Given the description of an element on the screen output the (x, y) to click on. 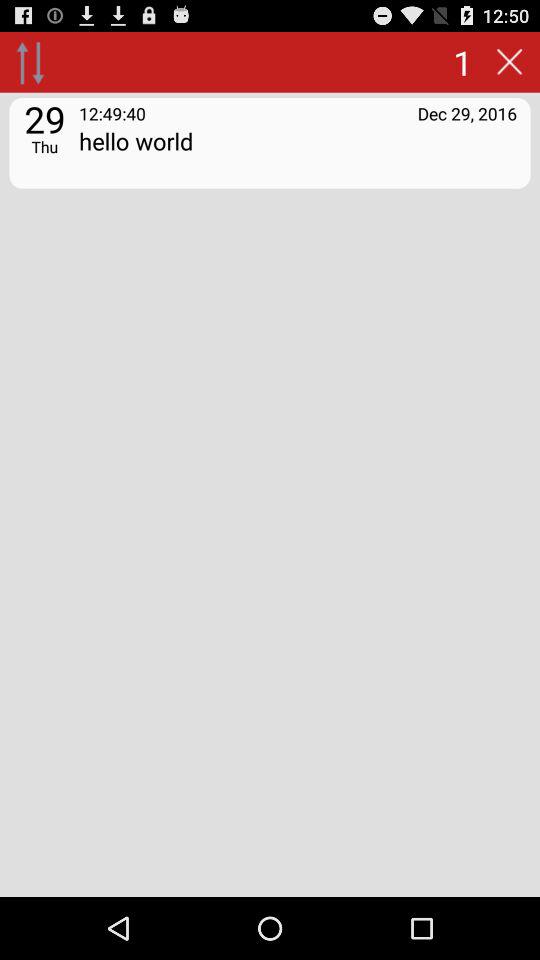
close journal (509, 61)
